Given the description of an element on the screen output the (x, y) to click on. 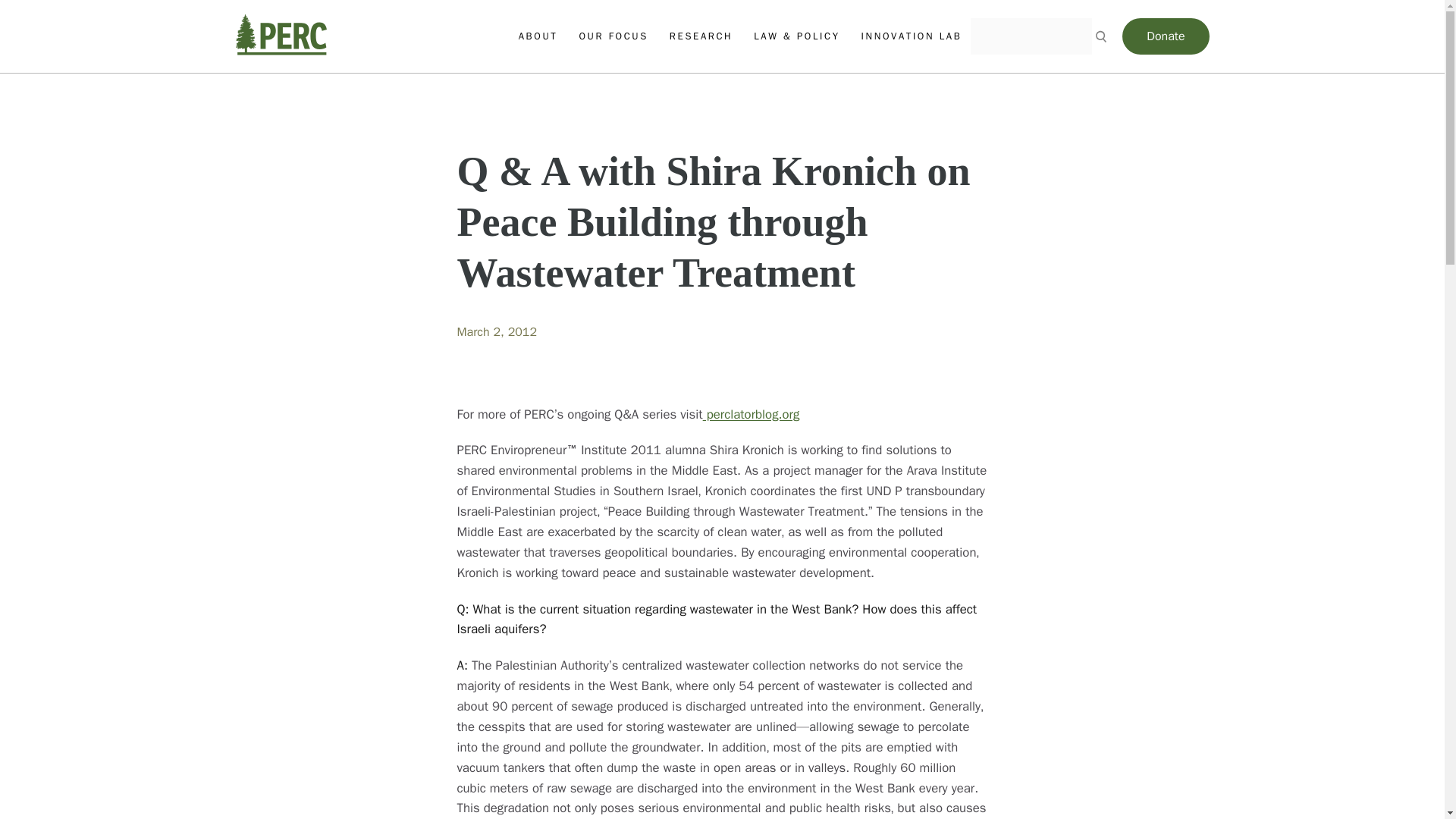
Donate (1165, 36)
RESEARCH (700, 36)
OUR FOCUS (612, 36)
ABOUT (537, 36)
INNOVATION LAB (911, 36)
